Given the description of an element on the screen output the (x, y) to click on. 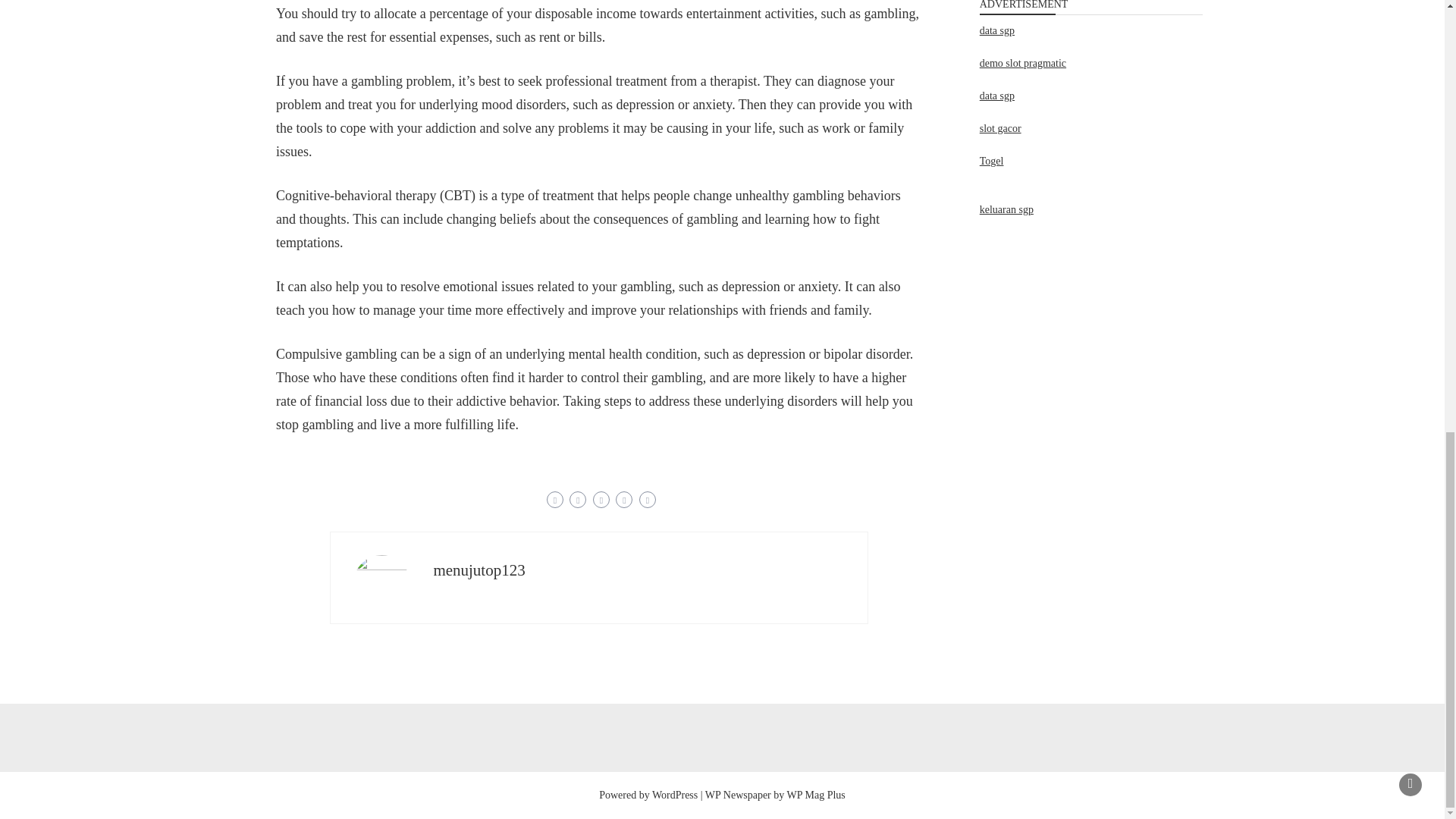
menujutop123 (478, 570)
